Given the description of an element on the screen output the (x, y) to click on. 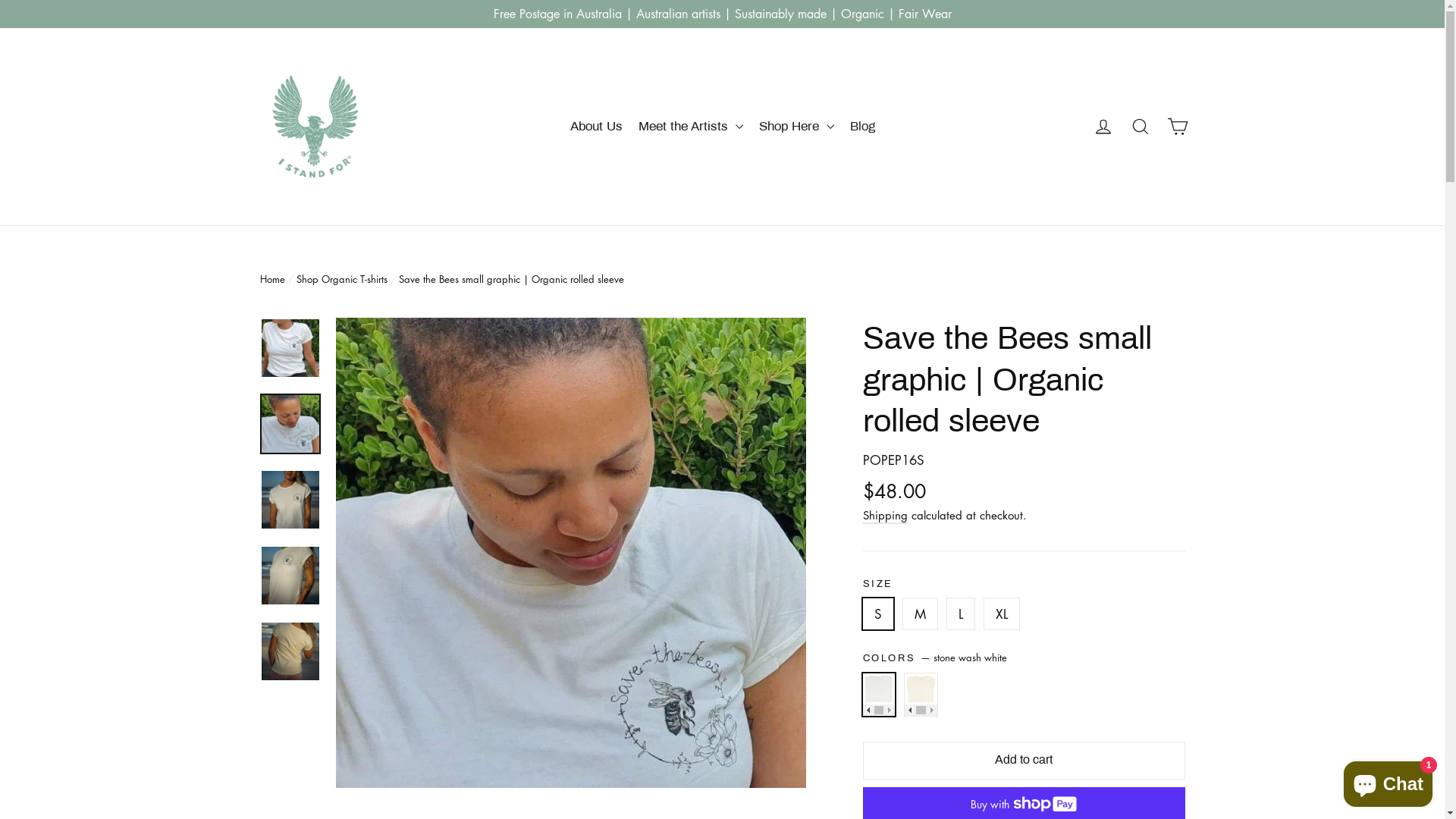
Add to cart Element type: text (1023, 760)
Blog Element type: text (861, 126)
Shop Organic T-shirts Element type: text (340, 278)
Log in Element type: text (1102, 126)
About Us Element type: text (596, 126)
Search Element type: text (1140, 126)
Meet the Artists Element type: text (690, 126)
Cart Element type: text (1176, 126)
Shop Here Element type: text (795, 126)
Shopify online store chat Element type: hover (1388, 780)
Skip to content Element type: text (0, 0)
Home Element type: text (271, 278)
Shipping Element type: text (884, 515)
